Given the description of an element on the screen output the (x, y) to click on. 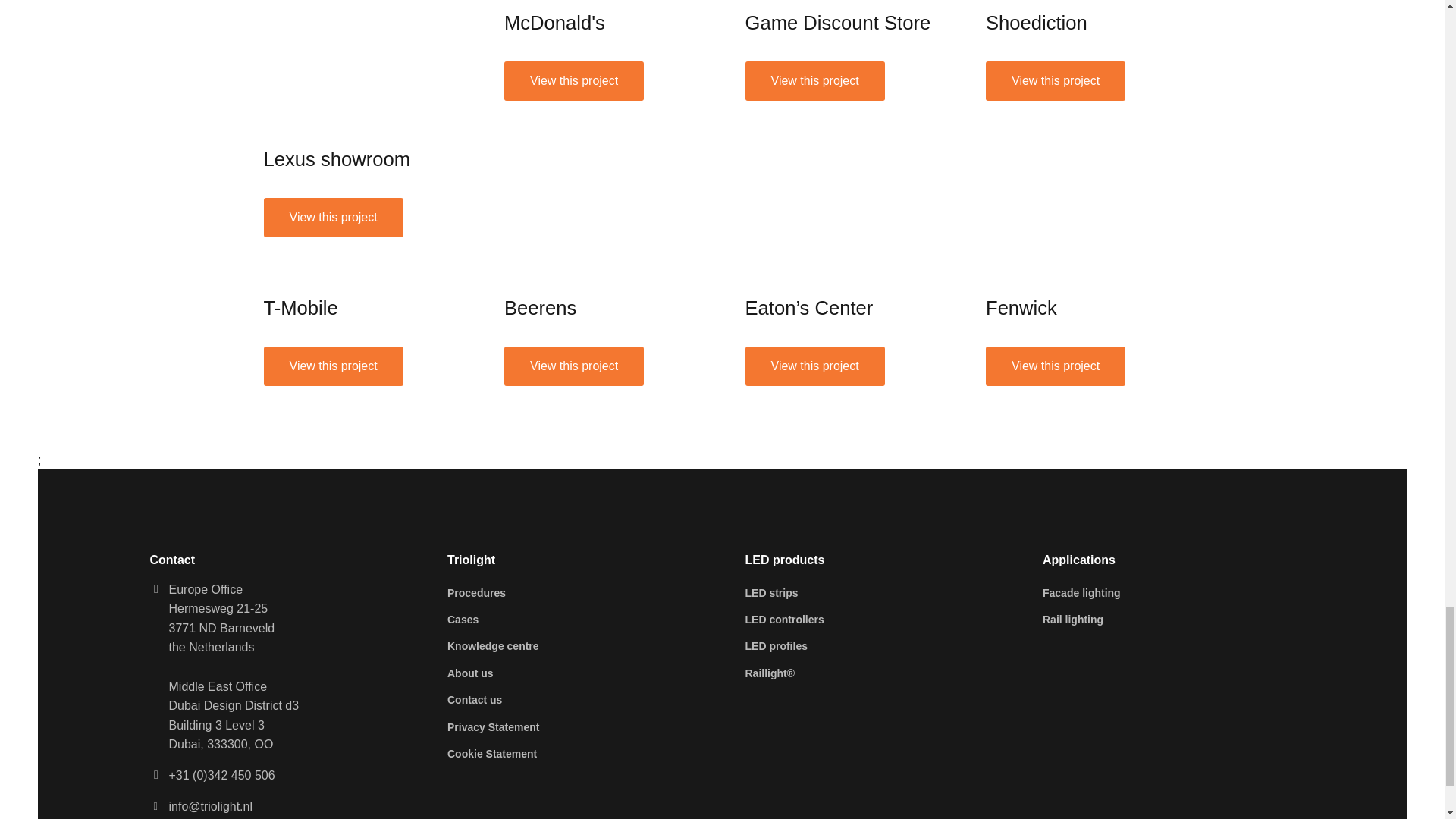
McDonald's  (554, 22)
Game Discount Store (813, 80)
Lexus showroom (361, 67)
Shoediction (1055, 80)
Shoediction (1036, 22)
Game Discount Store (837, 22)
Lexus showroom (336, 158)
Lexus (333, 217)
